Given the description of an element on the screen output the (x, y) to click on. 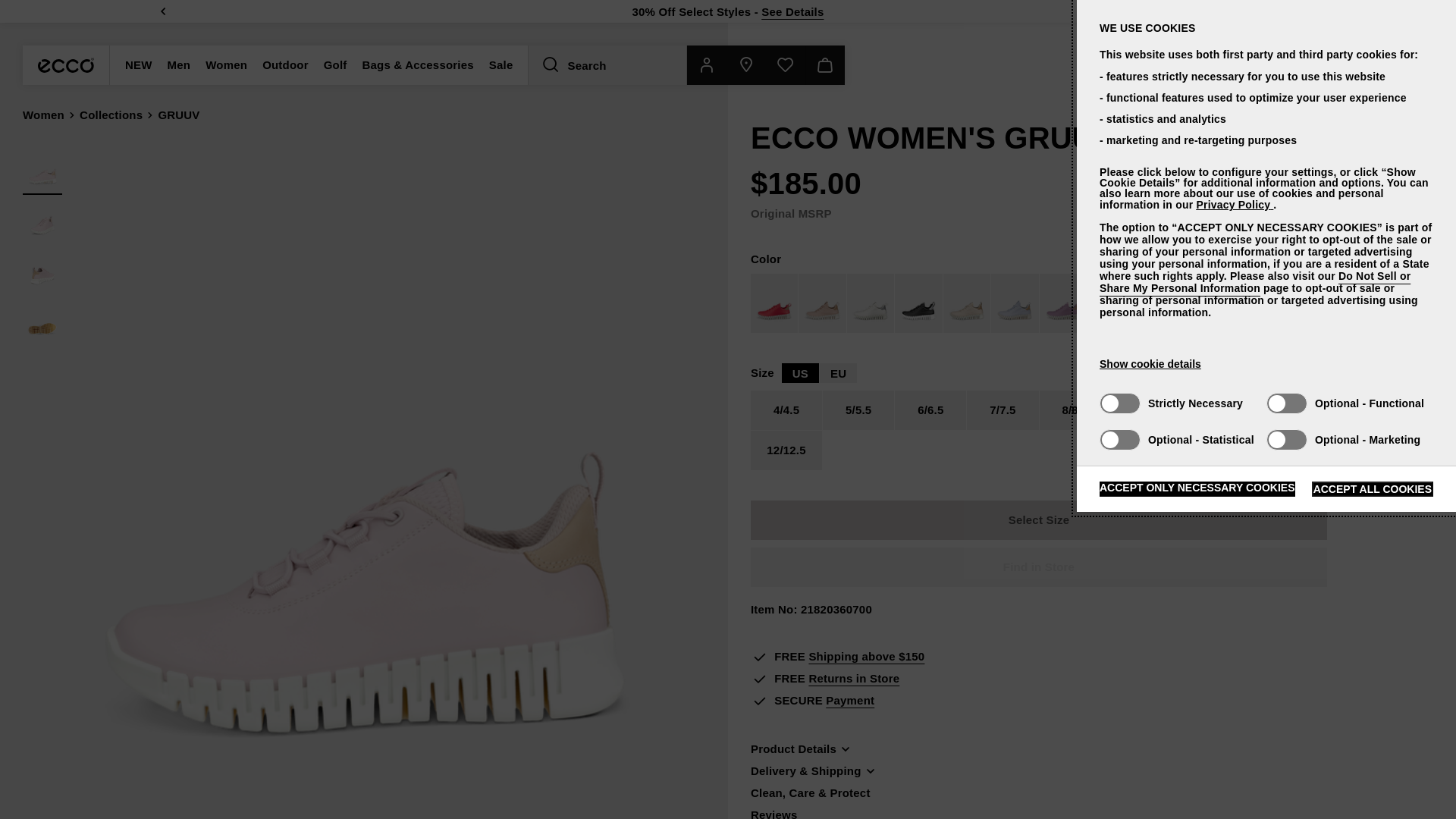
Privacy Policy (1233, 204)
Do Not Sell or Share My Personal Information (1254, 282)
Show cookie details (1150, 363)
